Given the description of an element on the screen output the (x, y) to click on. 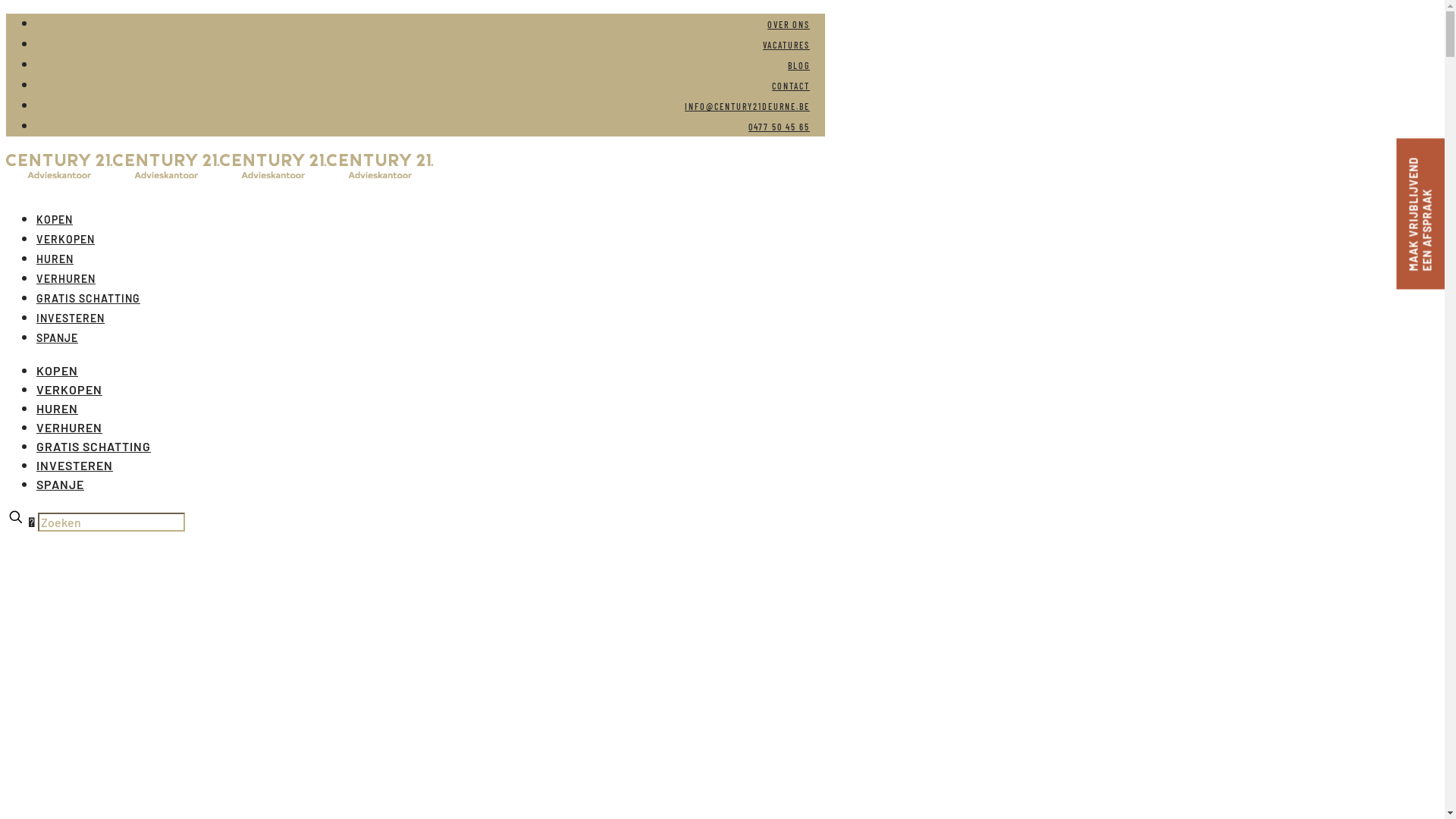
VACATURES Element type: text (785, 44)
BLOG Element type: text (798, 64)
SPANJE Element type: text (57, 337)
VERKOPEN Element type: text (65, 239)
INVESTEREN Element type: text (74, 465)
KOPEN Element type: text (57, 370)
INFO@CENTURY21DEURNE.BE Element type: text (746, 105)
HUREN Element type: text (57, 408)
CENTURY 21 ADVIESKANTOOR Element type: hover (219, 172)
0477 50 45 65 Element type: text (778, 126)
VERHUREN Element type: text (65, 278)
GRATIS SCHATTING Element type: text (88, 298)
VERKOPEN Element type: text (69, 389)
VERHUREN Element type: text (69, 427)
KOPEN Element type: text (54, 219)
INVESTEREN Element type: text (70, 317)
OVER ONS Element type: text (788, 23)
SPANJE Element type: text (60, 483)
CONTACT Element type: text (790, 85)
GRATIS SCHATTING Element type: text (93, 446)
HUREN Element type: text (54, 258)
